Given the description of an element on the screen output the (x, y) to click on. 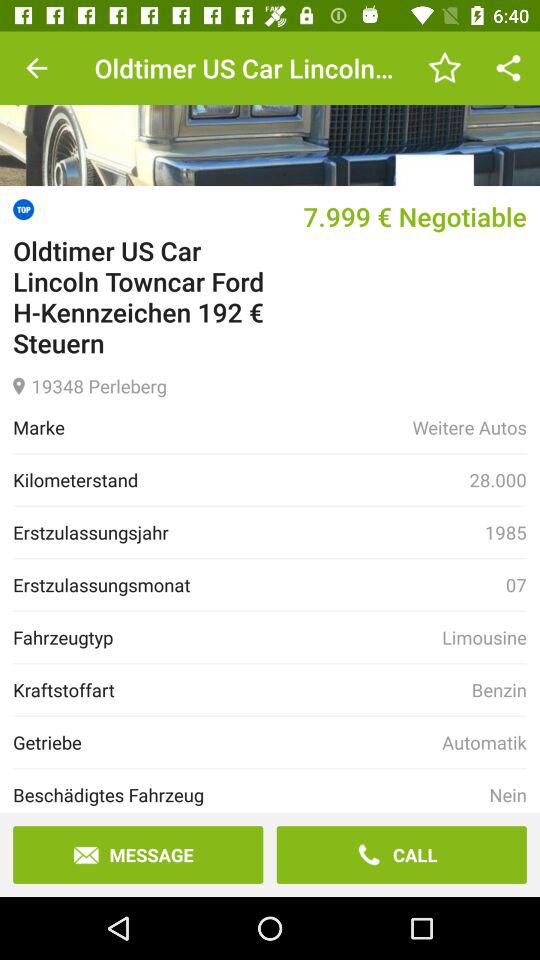
go back (36, 68)
